Given the description of an element on the screen output the (x, y) to click on. 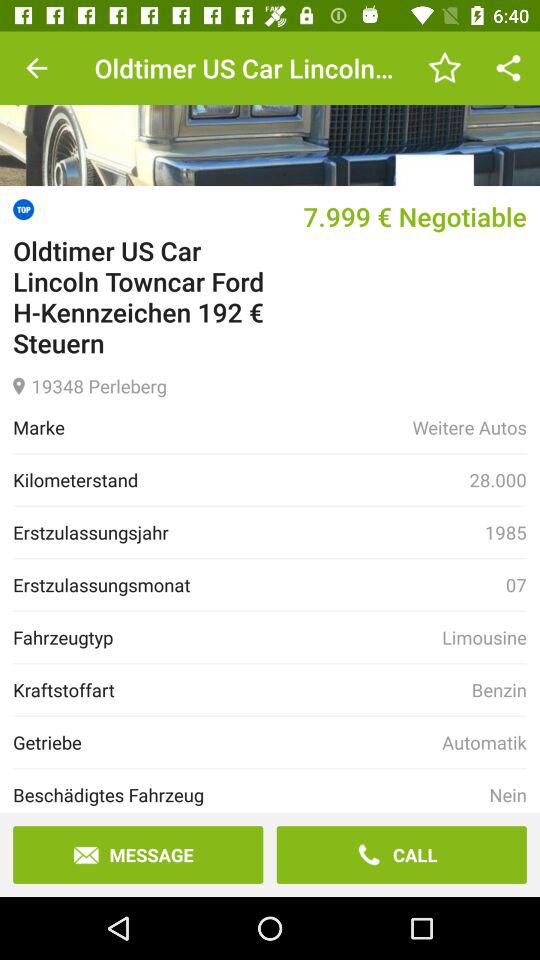
go back (36, 68)
